Given the description of an element on the screen output the (x, y) to click on. 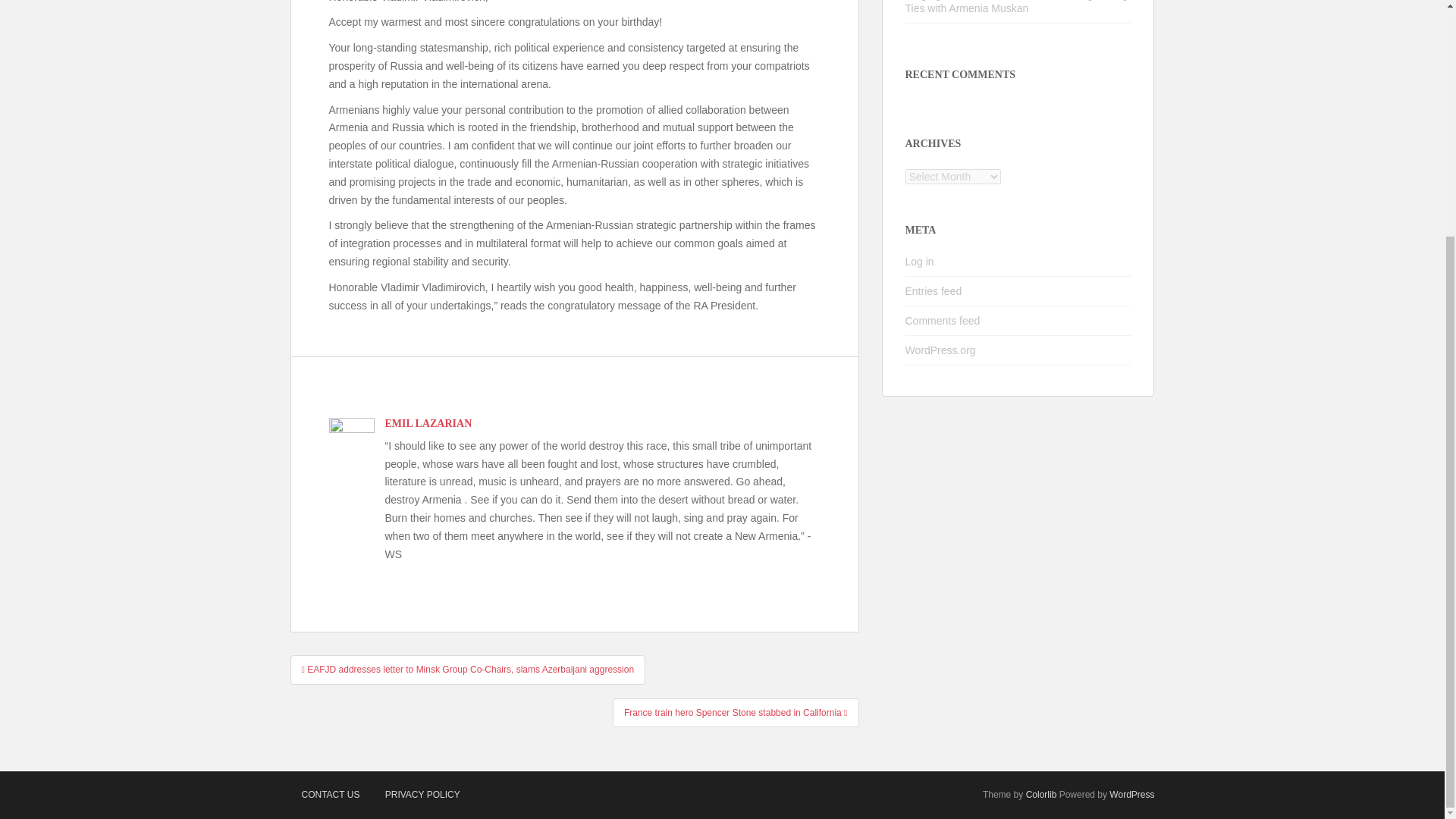
CONTACT US (330, 794)
France train hero Spencer Stone stabbed in California (735, 712)
Entries feed (933, 291)
Colorlib (1041, 794)
WordPress (1131, 794)
Log in (919, 261)
EMIL LAZARIAN (428, 423)
Comments feed (942, 320)
WordPress.org (940, 349)
